Given the description of an element on the screen output the (x, y) to click on. 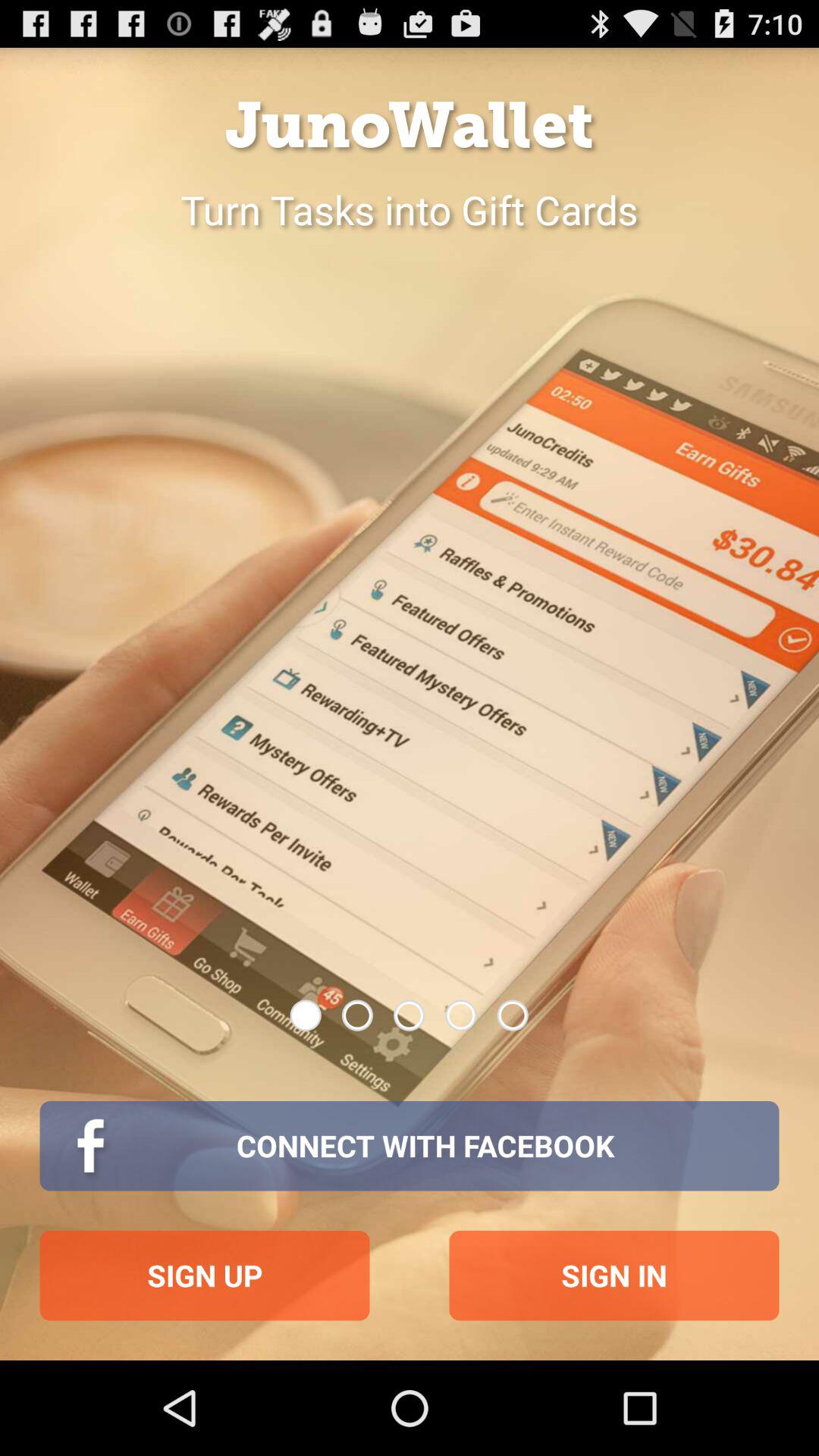
jump to sign up icon (204, 1275)
